Given the description of an element on the screen output the (x, y) to click on. 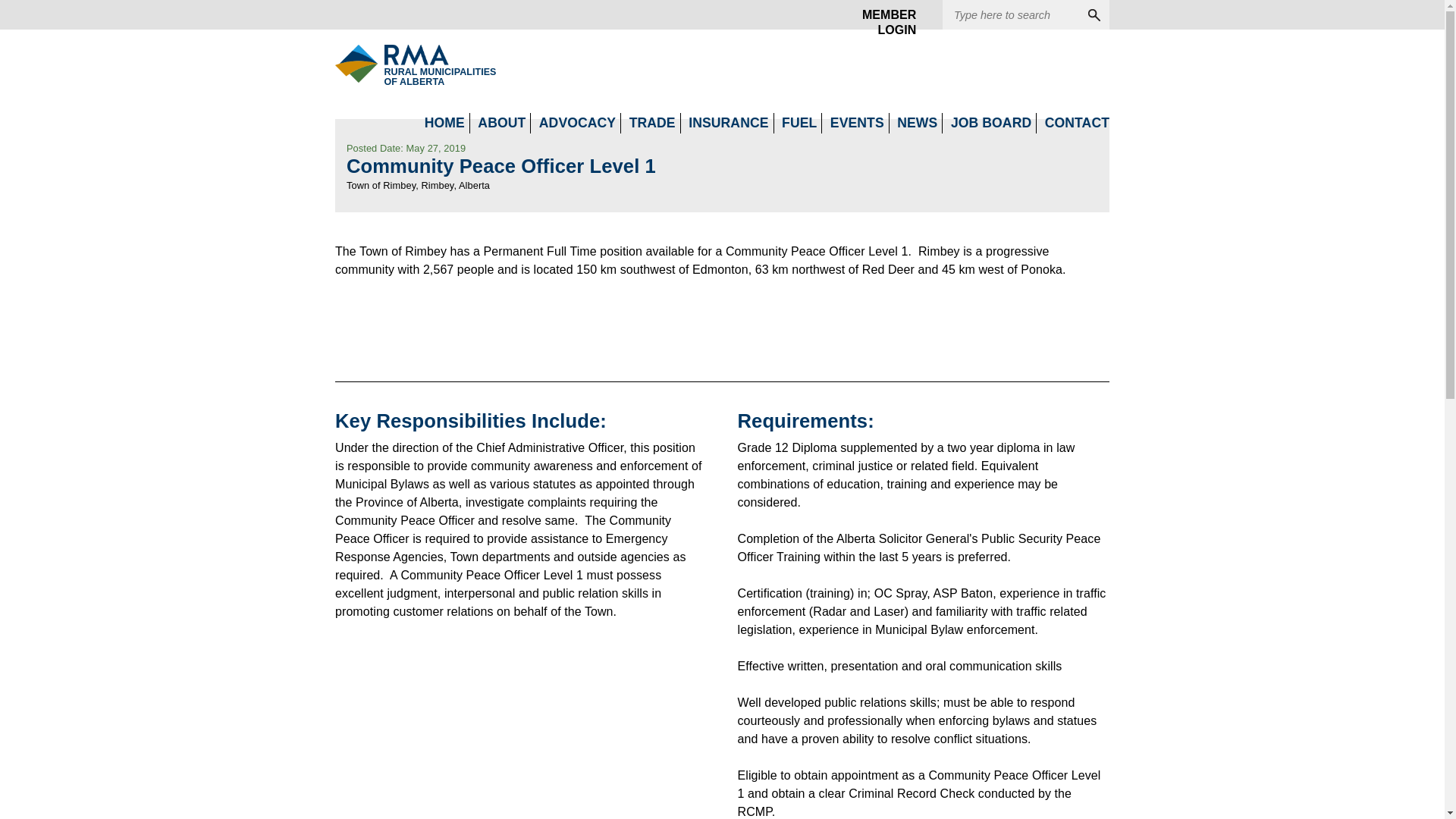
ABOUT (501, 122)
HOME (391, 63)
INSURANCE (444, 122)
MEMBER LOGIN (728, 122)
TRADE (883, 14)
ADVOCACY (651, 122)
